Given the description of an element on the screen output the (x, y) to click on. 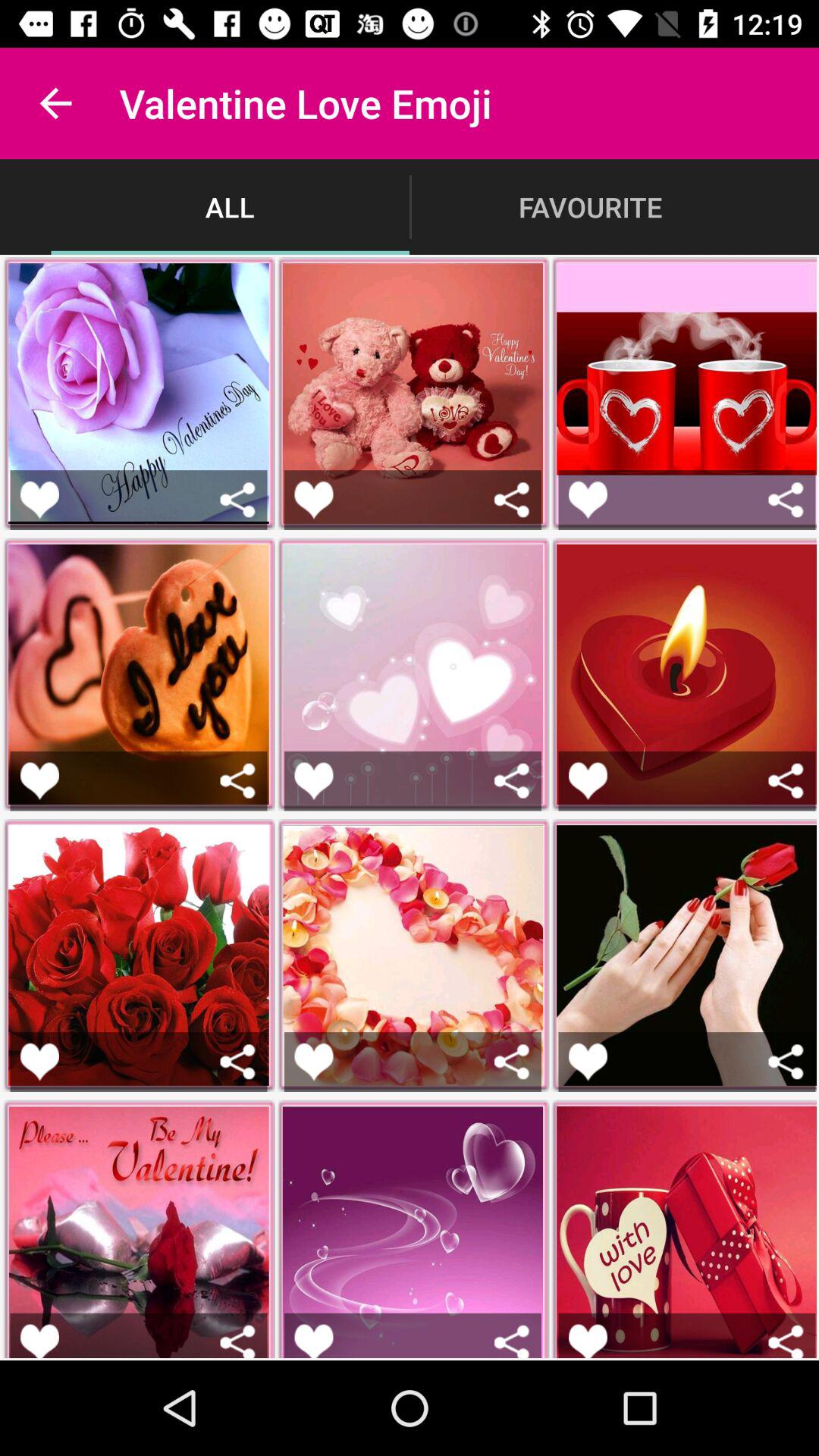
share icon (511, 499)
